Given the description of an element on the screen output the (x, y) to click on. 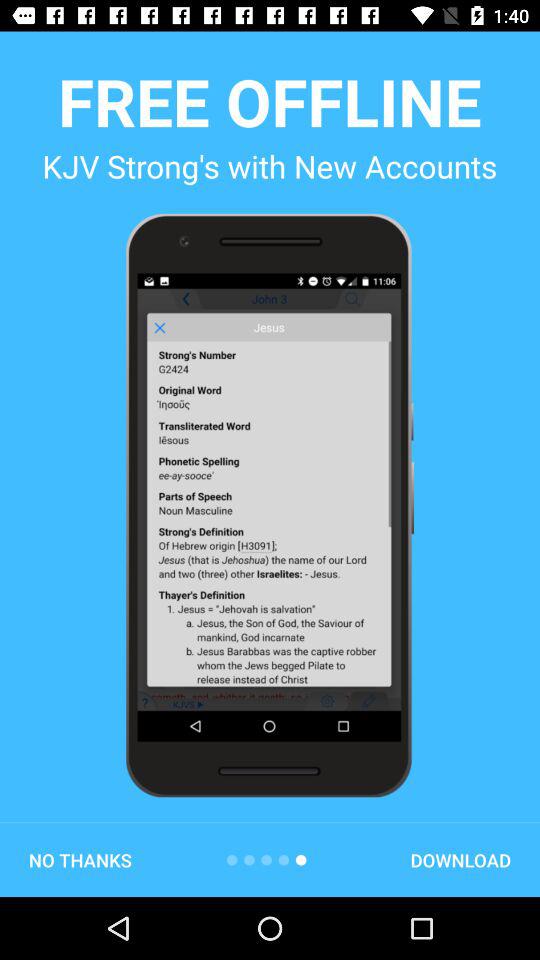
swipe until the no thanks item (80, 859)
